Given the description of an element on the screen output the (x, y) to click on. 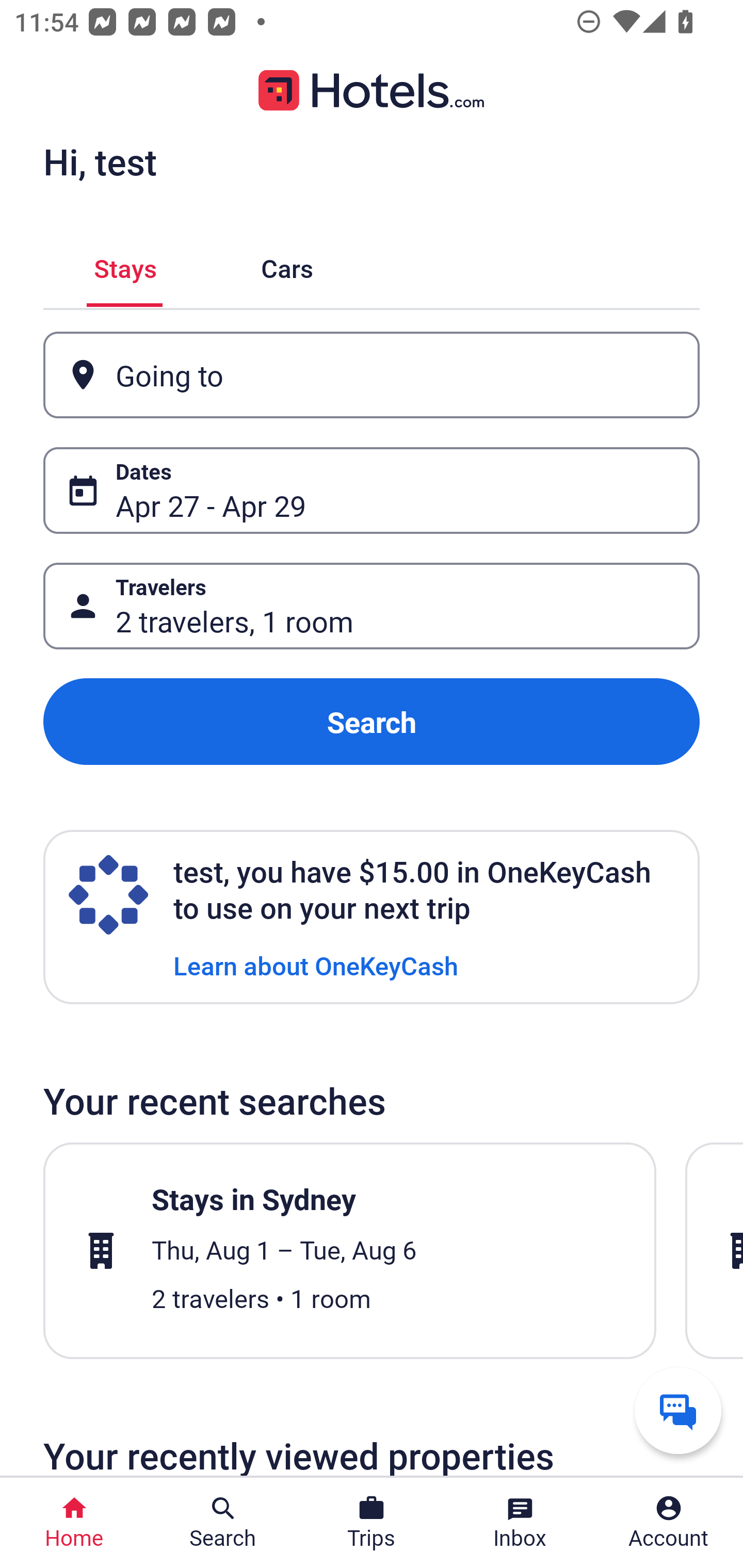
Hi, test (99, 161)
Cars (286, 265)
Going to Button (371, 375)
Dates Button Apr 27 - Apr 29 (371, 489)
Travelers Button 2 travelers, 1 room (371, 605)
Search (371, 721)
Learn about OneKeyCash Learn about OneKeyCash Link (315, 964)
Get help from a virtual agent (677, 1410)
Search Search Button (222, 1522)
Trips Trips Button (371, 1522)
Inbox Inbox Button (519, 1522)
Account Profile. Button (668, 1522)
